Given the description of an element on the screen output the (x, y) to click on. 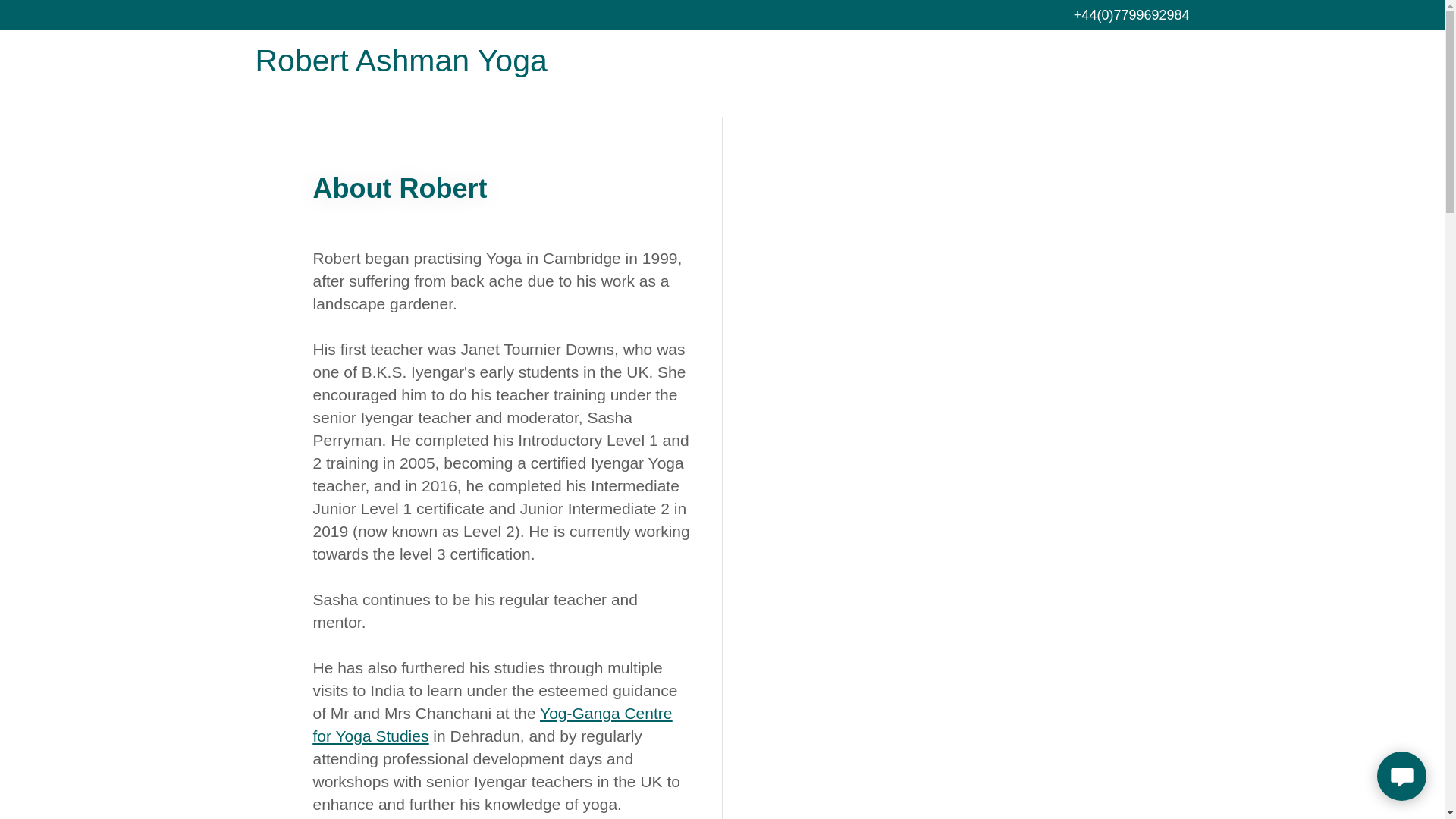
Yog-Ganga Centre for Yoga Studies (492, 724)
Robert Ashman Yoga (417, 66)
Robert Ashman Yoga (417, 66)
